Given the description of an element on the screen output the (x, y) to click on. 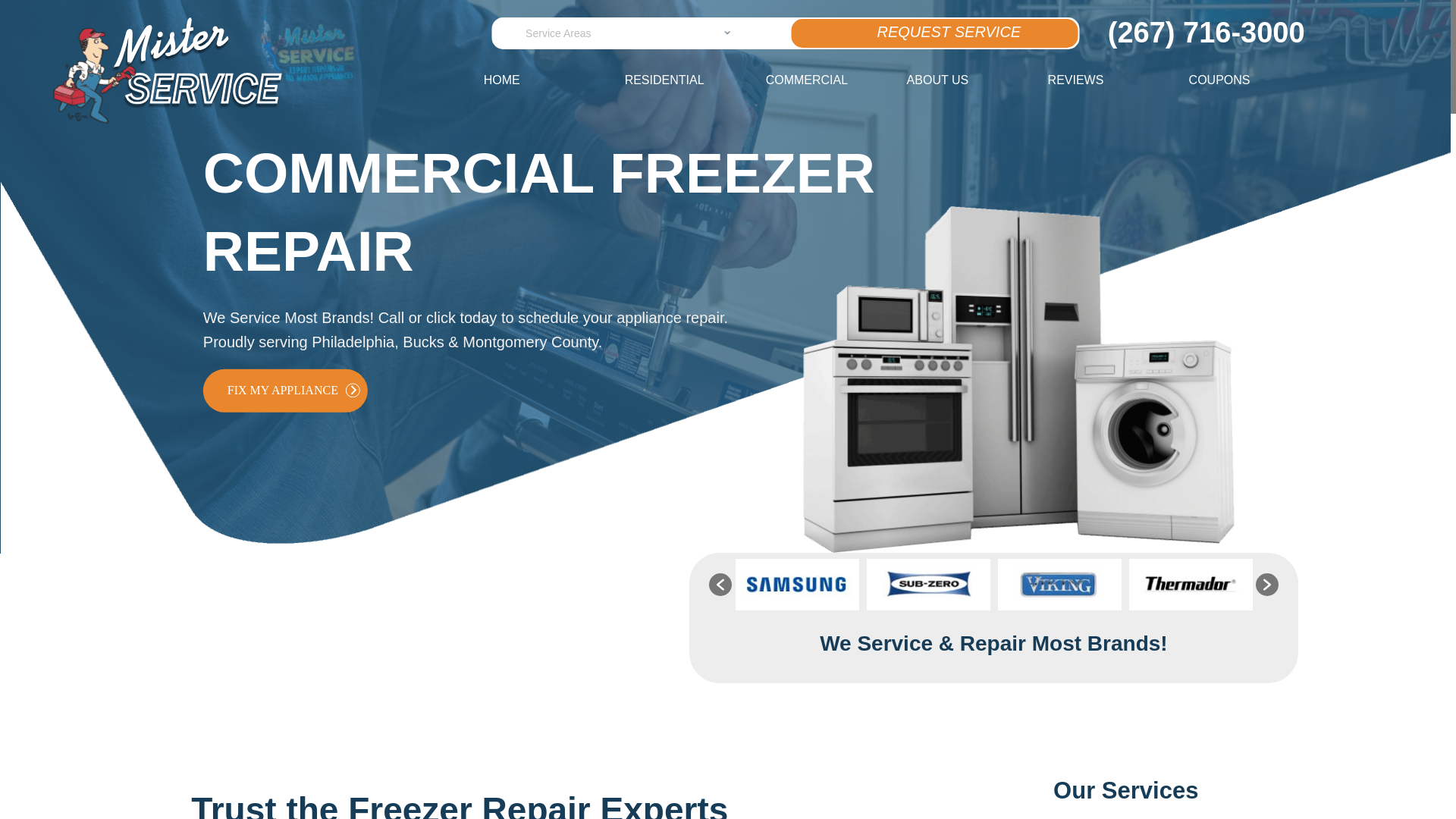
REQUEST SERVICE (935, 32)
HOME (552, 79)
FIX MY APPLIANCE (285, 390)
COUPONS (1257, 79)
COMMERCIAL (834, 79)
ABOUT US (976, 79)
RESIDENTIAL (693, 79)
REVIEWS (1117, 79)
